Given the description of an element on the screen output the (x, y) to click on. 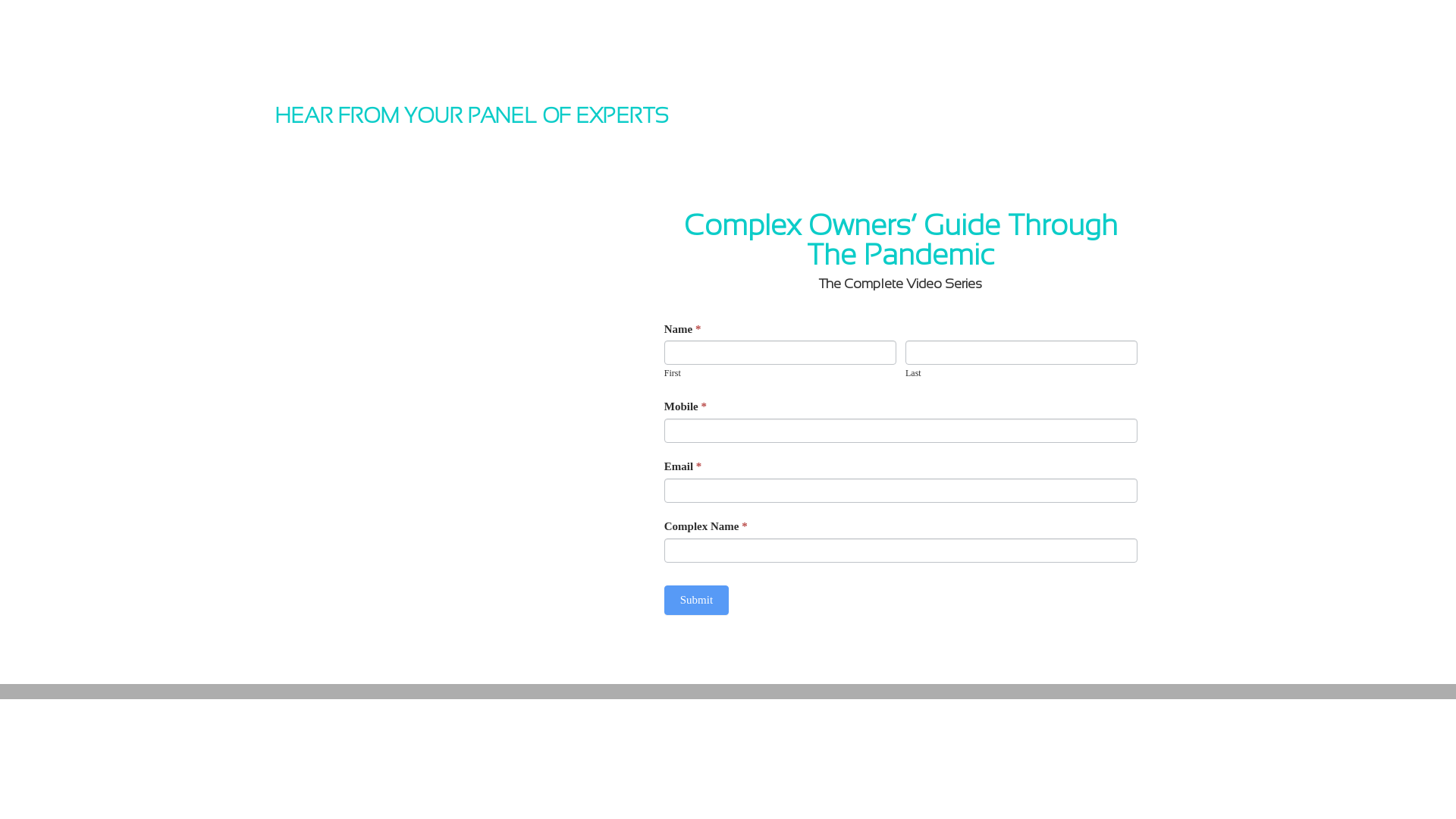
Submit Element type: text (696, 600)
